Given the description of an element on the screen output the (x, y) to click on. 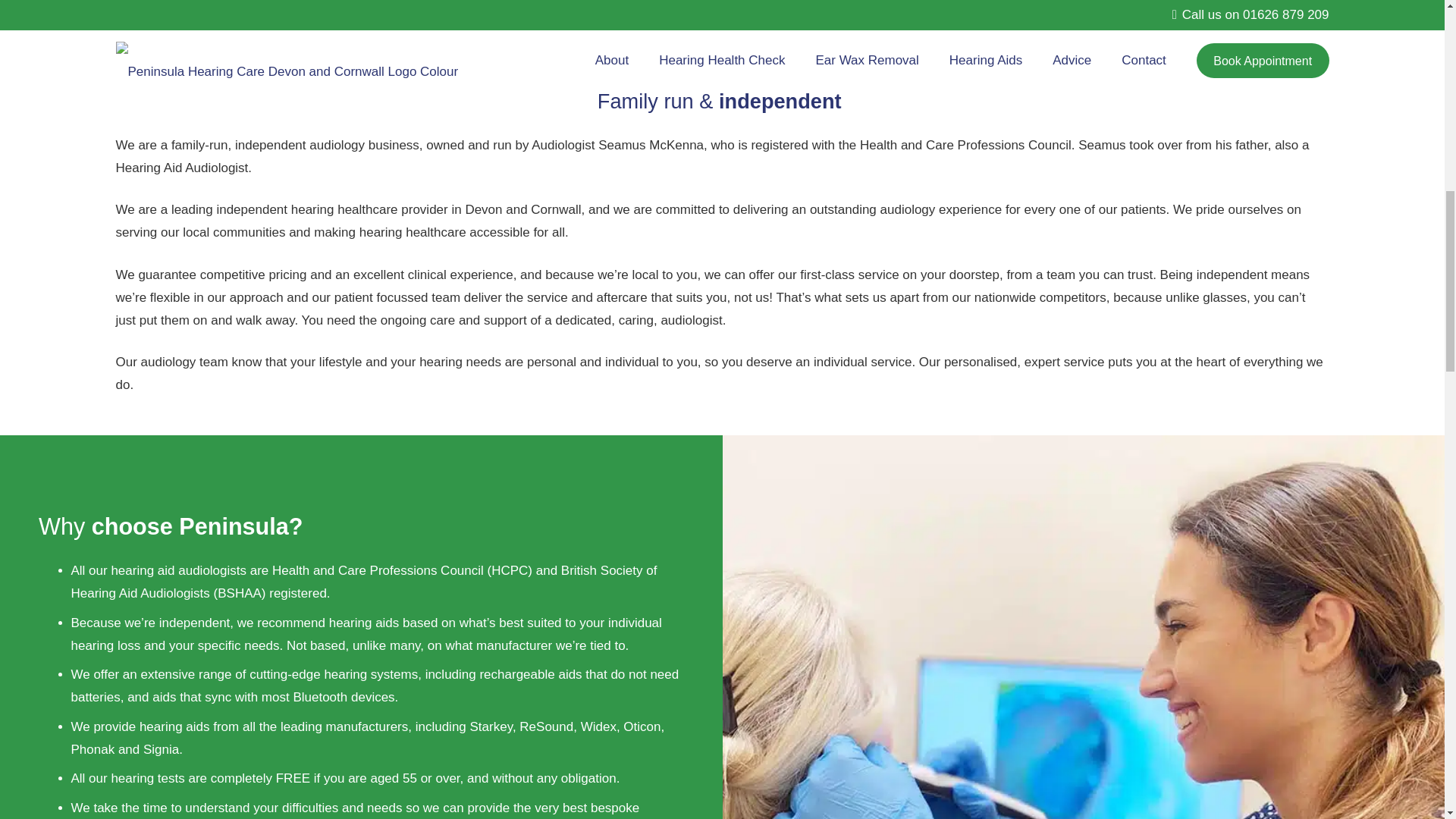
Back to top (1413, 26)
